Given the description of an element on the screen output the (x, y) to click on. 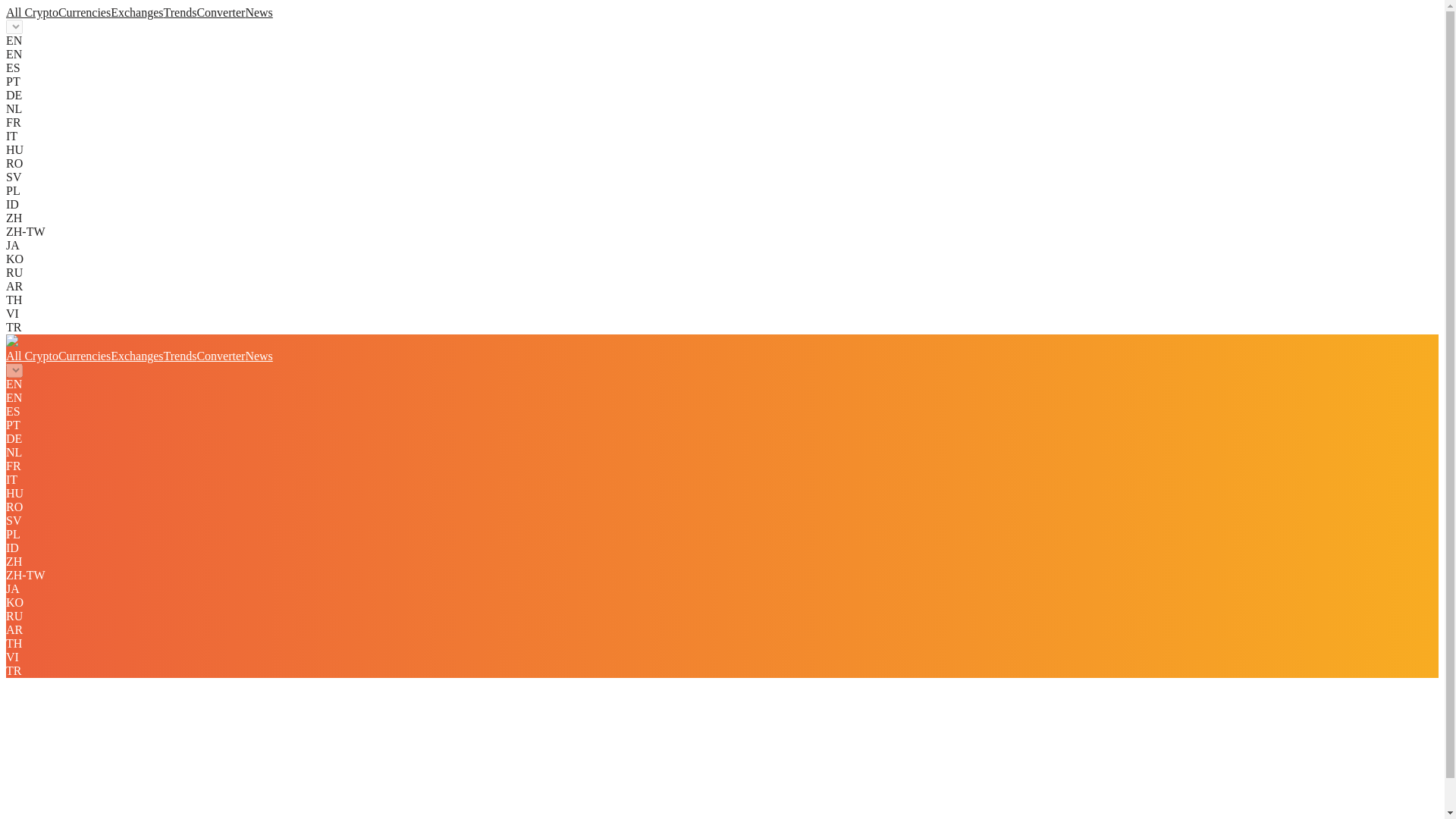
Trends (179, 355)
News (258, 355)
Exchanges (136, 11)
All CryptoCurrencies (57, 11)
Exchanges (136, 355)
All CryptoCurrencies (57, 355)
Converter (220, 355)
News (258, 11)
Trends (179, 11)
Converter (220, 11)
